Given the description of an element on the screen output the (x, y) to click on. 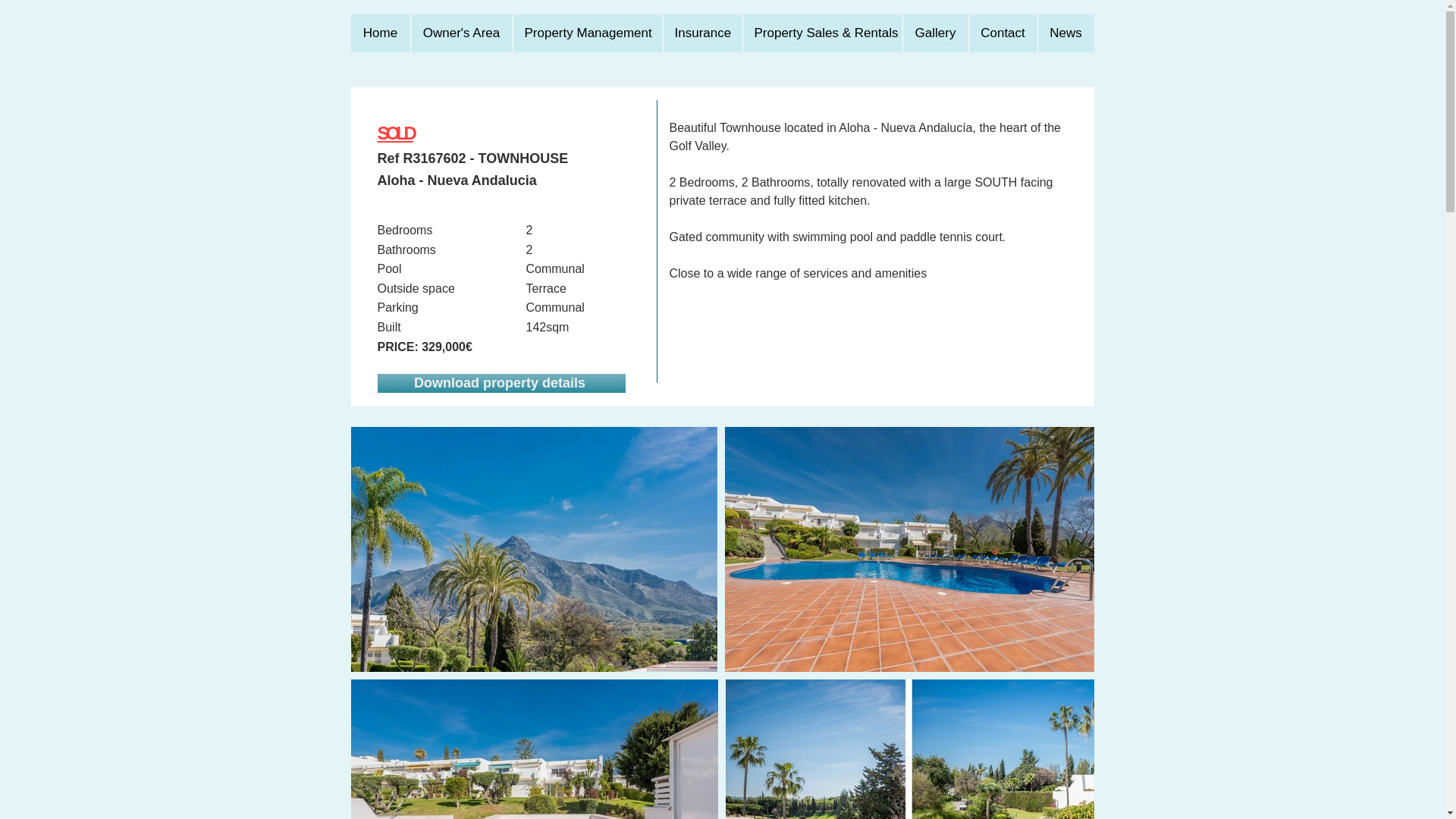
Property Management (587, 33)
Contact (1002, 33)
Gallery (935, 33)
Home (379, 33)
Owner's Area (460, 33)
News (1065, 33)
Insurance (702, 33)
Download property details (501, 383)
